Given the description of an element on the screen output the (x, y) to click on. 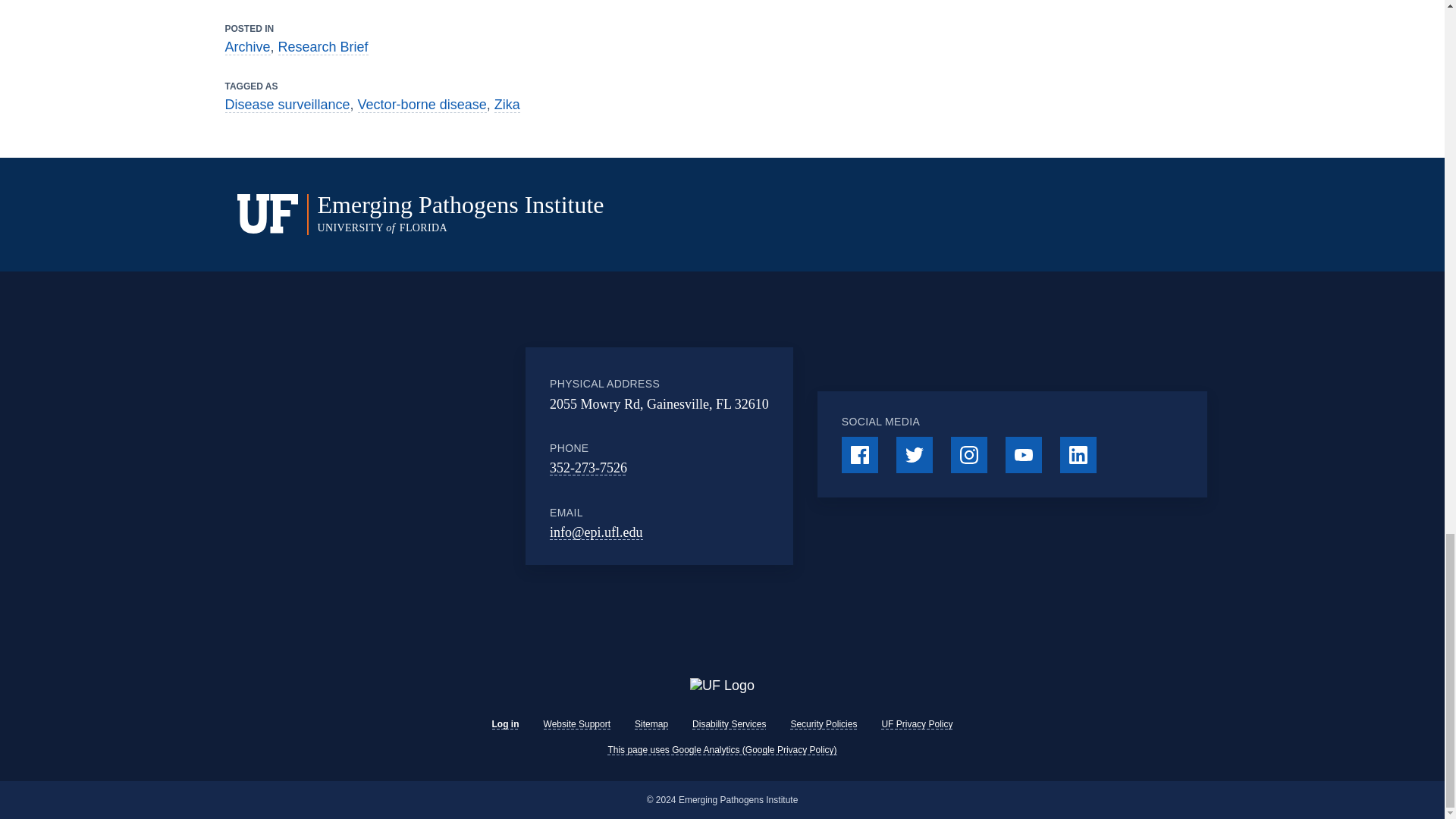
Sitemap (651, 724)
352-273-7526 (588, 467)
Website Support (577, 724)
Security Policies (823, 724)
Google Maps Embed (429, 456)
Log in (505, 724)
UF Privacy Policy (916, 724)
Disability Services (729, 724)
